Given the description of an element on the screen output the (x, y) to click on. 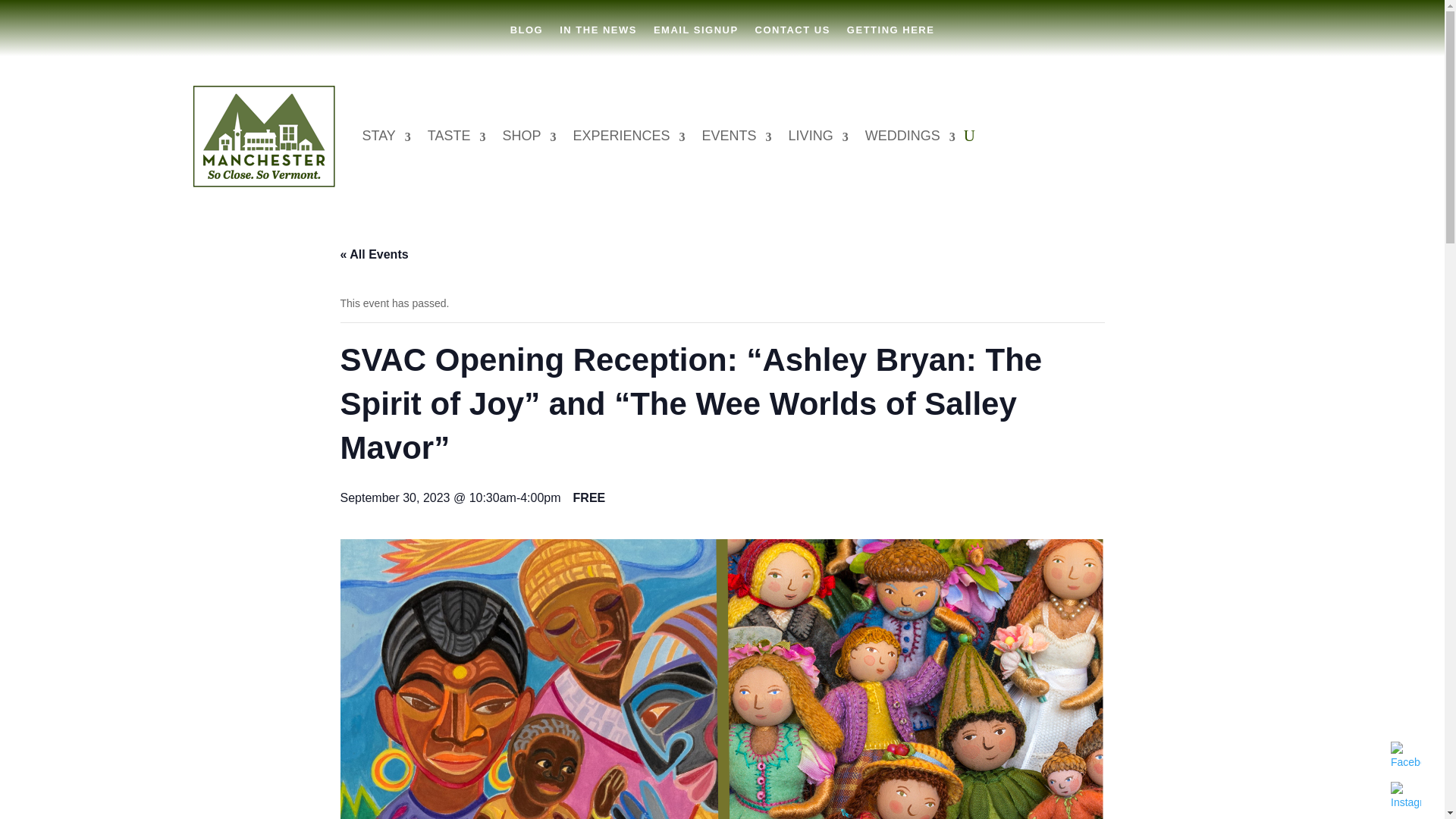
GETTING HERE (890, 41)
BLOG (527, 41)
CONTACT US (792, 41)
EMAIL SIGNUP (695, 41)
Instagram (1405, 797)
Facebook (1405, 757)
IN THE NEWS (598, 41)
EXPERIENCES (629, 135)
